Given the description of an element on the screen output the (x, y) to click on. 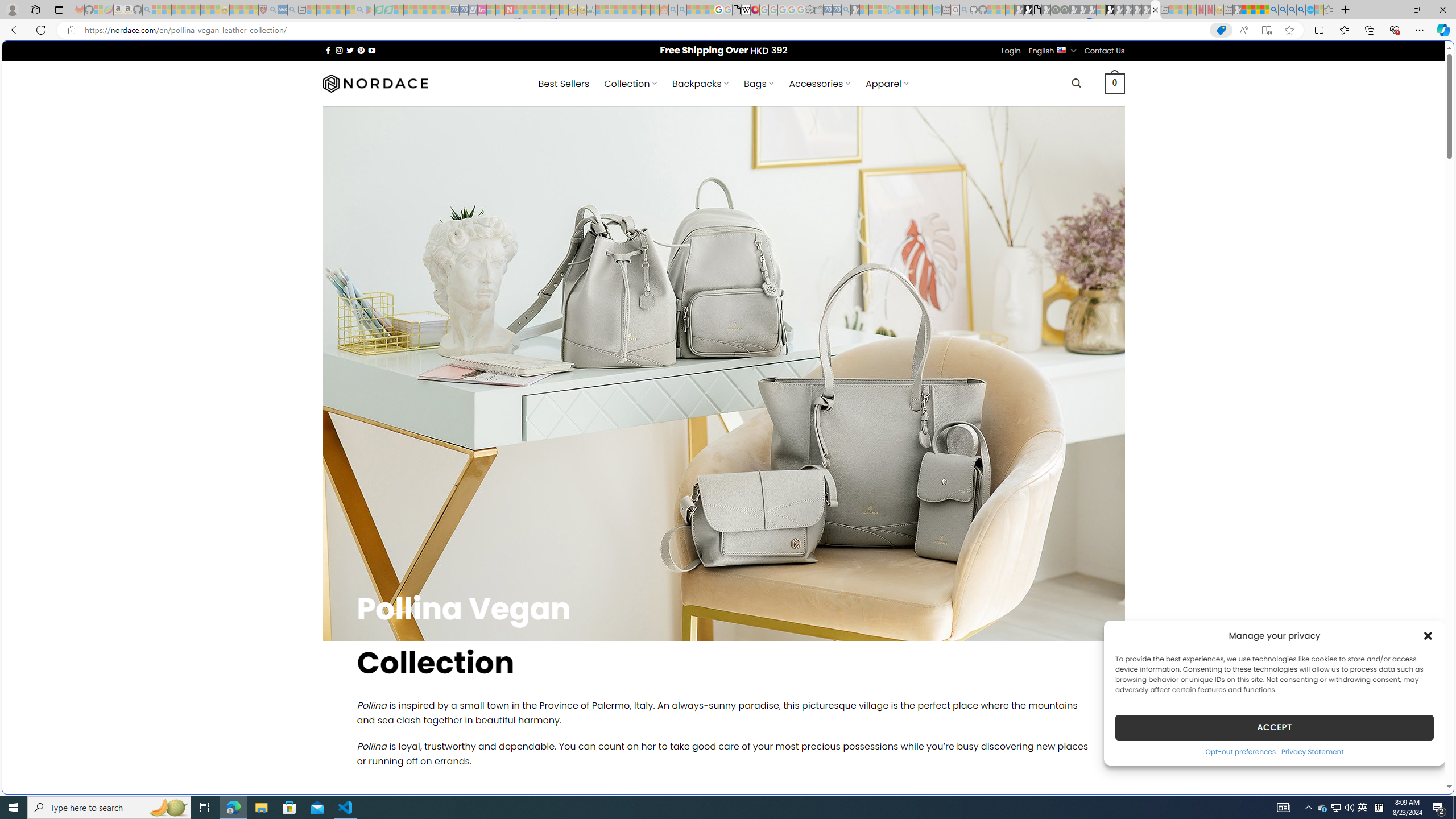
Enter Immersive Reader (F9) (1266, 29)
  Best Sellers (563, 83)
Favorites - Sleeping (1328, 9)
google_privacy_policy_zh-CN.pdf (1118, 683)
Local - MSN - Sleeping (253, 9)
Login (1010, 50)
